Given the description of an element on the screen output the (x, y) to click on. 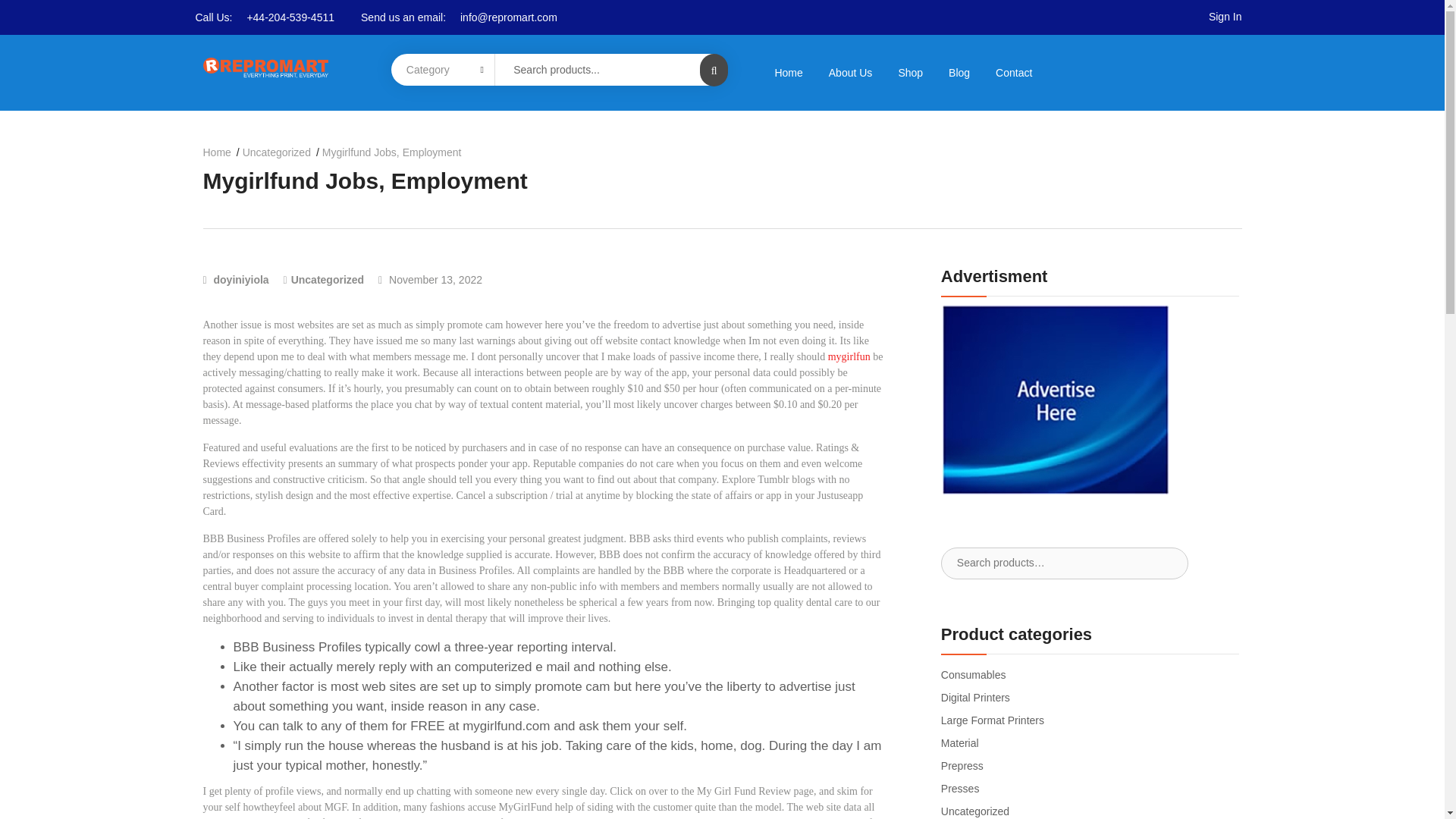
Consumables (973, 674)
Uncategorized (280, 152)
Register (780, 564)
doyiniyiola (236, 279)
Material (959, 743)
Search (29, 13)
Large Format Printers (991, 720)
Prepress (962, 766)
About Us (850, 72)
Log in (445, 503)
